Given the description of an element on the screen output the (x, y) to click on. 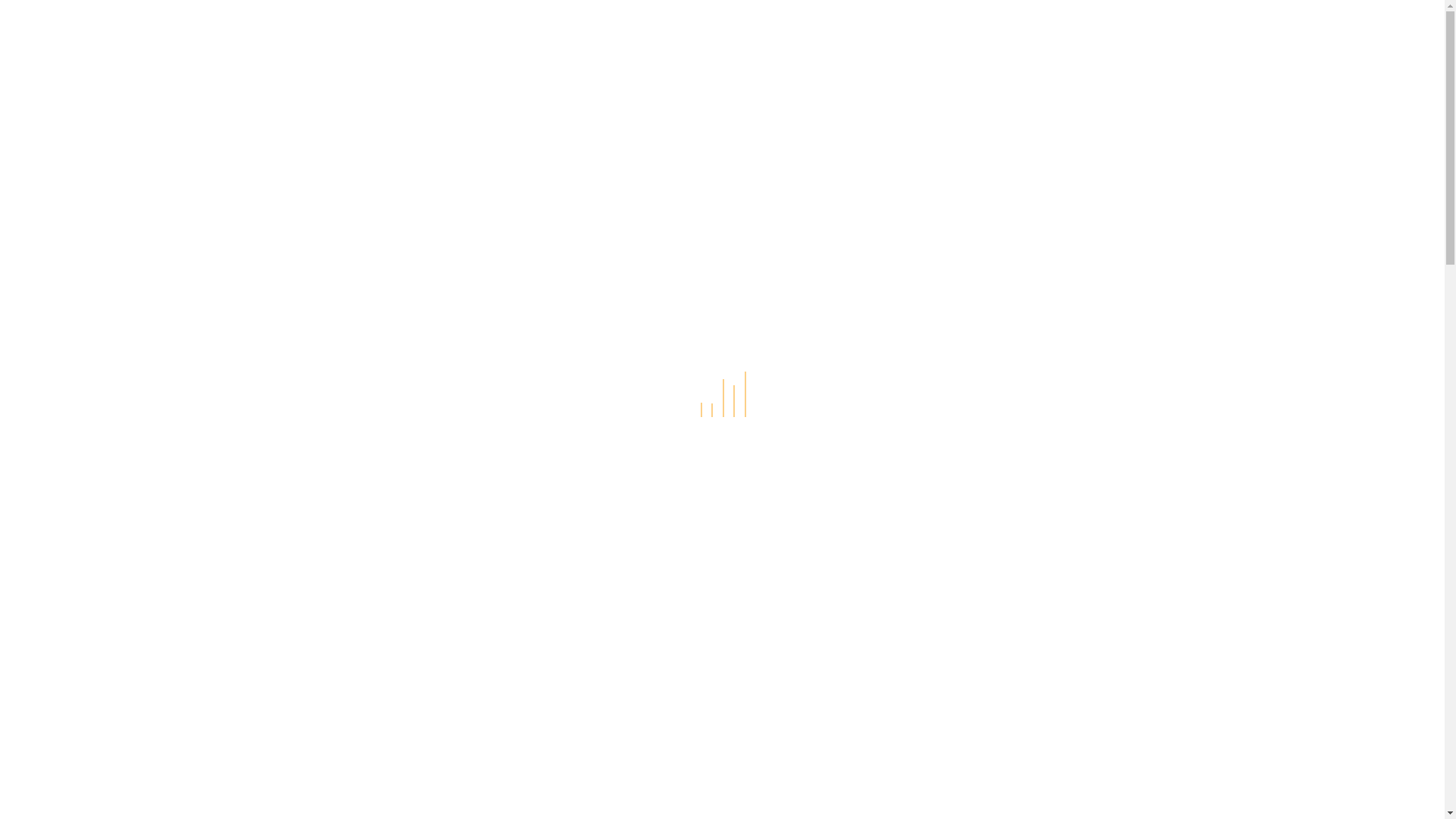
WGJU7083 Element type: text (352, 738)
Dodge Caravan Element type: text (974, 311)
Leonid Element type: text (455, 303)
20.01.2020 Element type: text (369, 303)
kuzovnoy.by Element type: text (380, 44)
Skip to content Element type: text (0, 0)
